Given the description of an element on the screen output the (x, y) to click on. 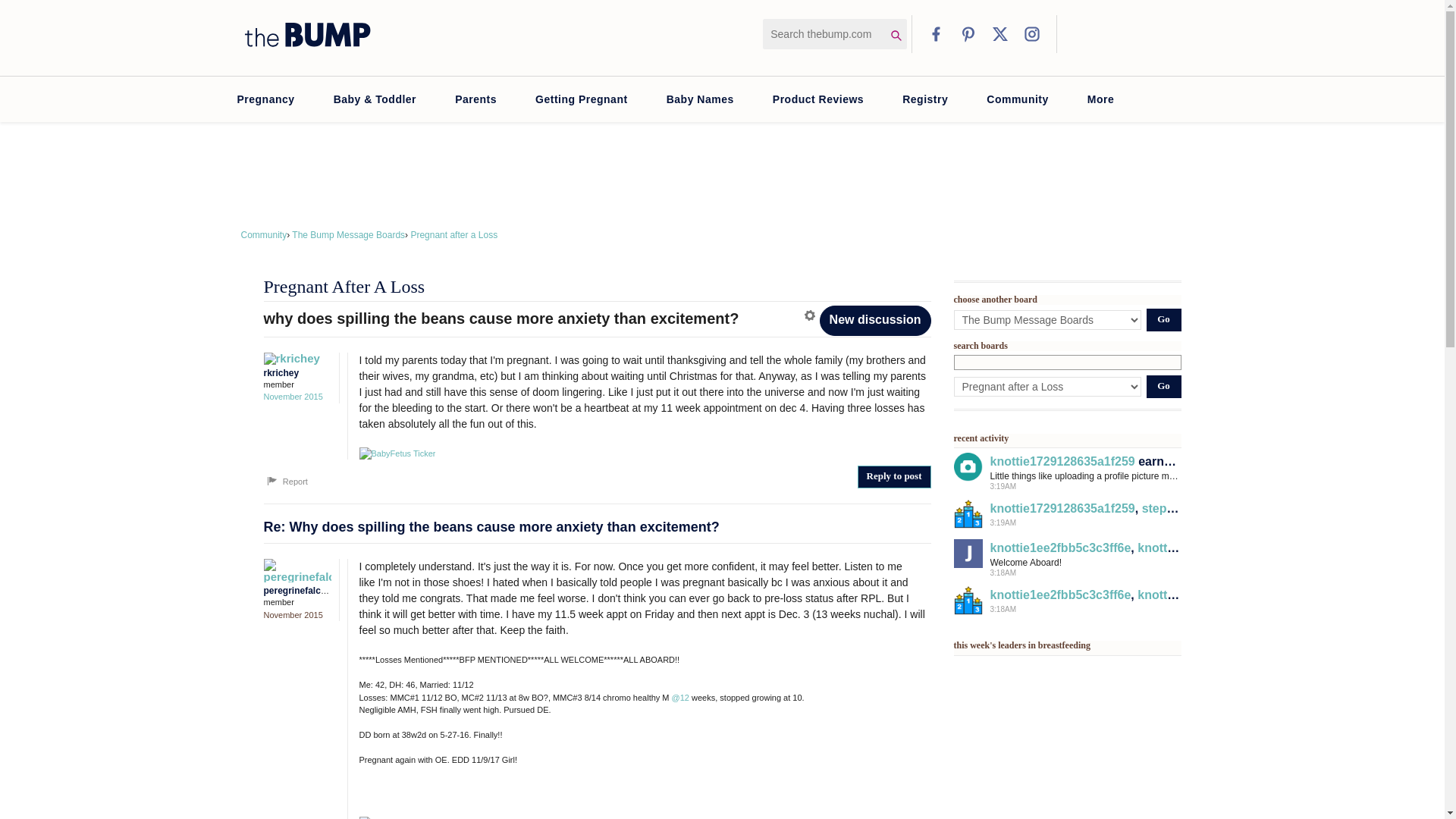
Report (285, 481)
member (297, 602)
member (297, 384)
peregrinefalconx (293, 570)
Options (811, 315)
rkrichey (293, 358)
Pregnancy (264, 99)
Go (1163, 386)
November 17, 2015 8:26PM (293, 614)
Go (1163, 319)
